Given the description of an element on the screen output the (x, y) to click on. 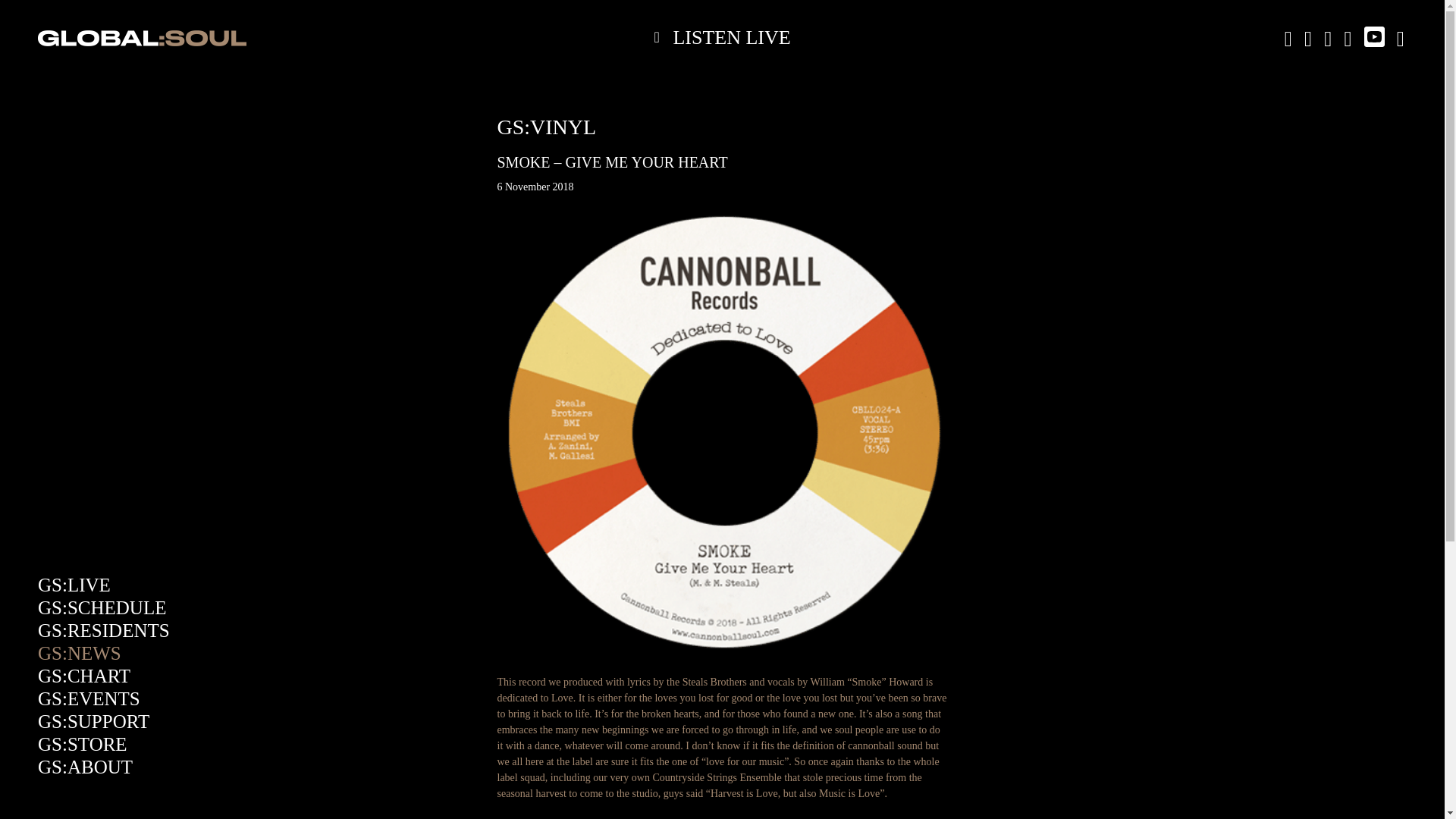
GS:ABOUT (84, 766)
GS:RESIDENTS (103, 629)
GS:SCHEDULE (101, 607)
GS:EVENTS (88, 698)
GS:CHART (84, 675)
GS:SUPPORT (93, 721)
GS:NEWS (78, 652)
LISTEN LIVE (721, 37)
GS:LIVE (73, 584)
GS:STORE (82, 743)
